Given the description of an element on the screen output the (x, y) to click on. 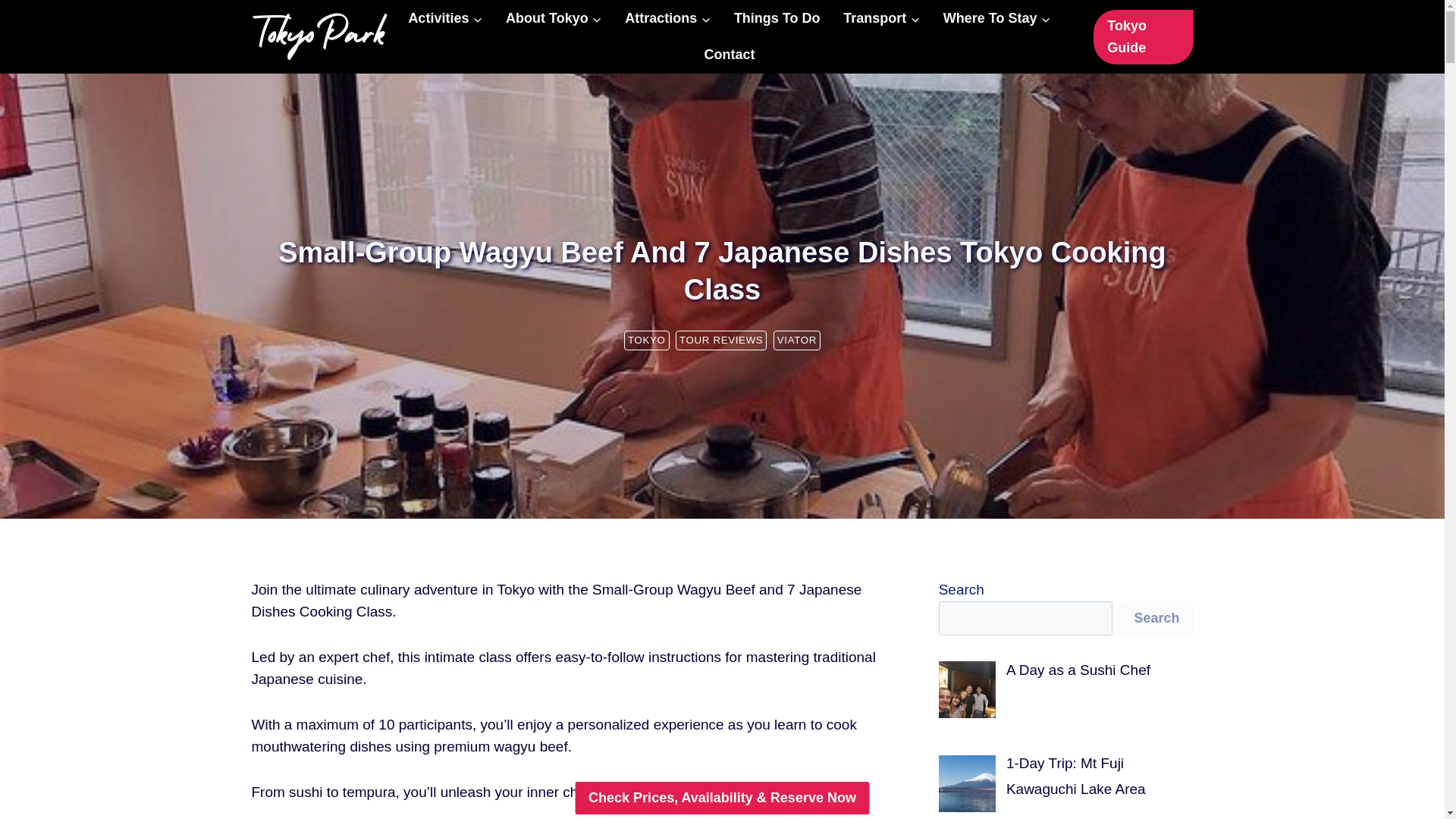
Activities (445, 18)
Attractions (667, 18)
Things To Do (776, 18)
About Tokyo (553, 18)
Transport (881, 18)
